Given the description of an element on the screen output the (x, y) to click on. 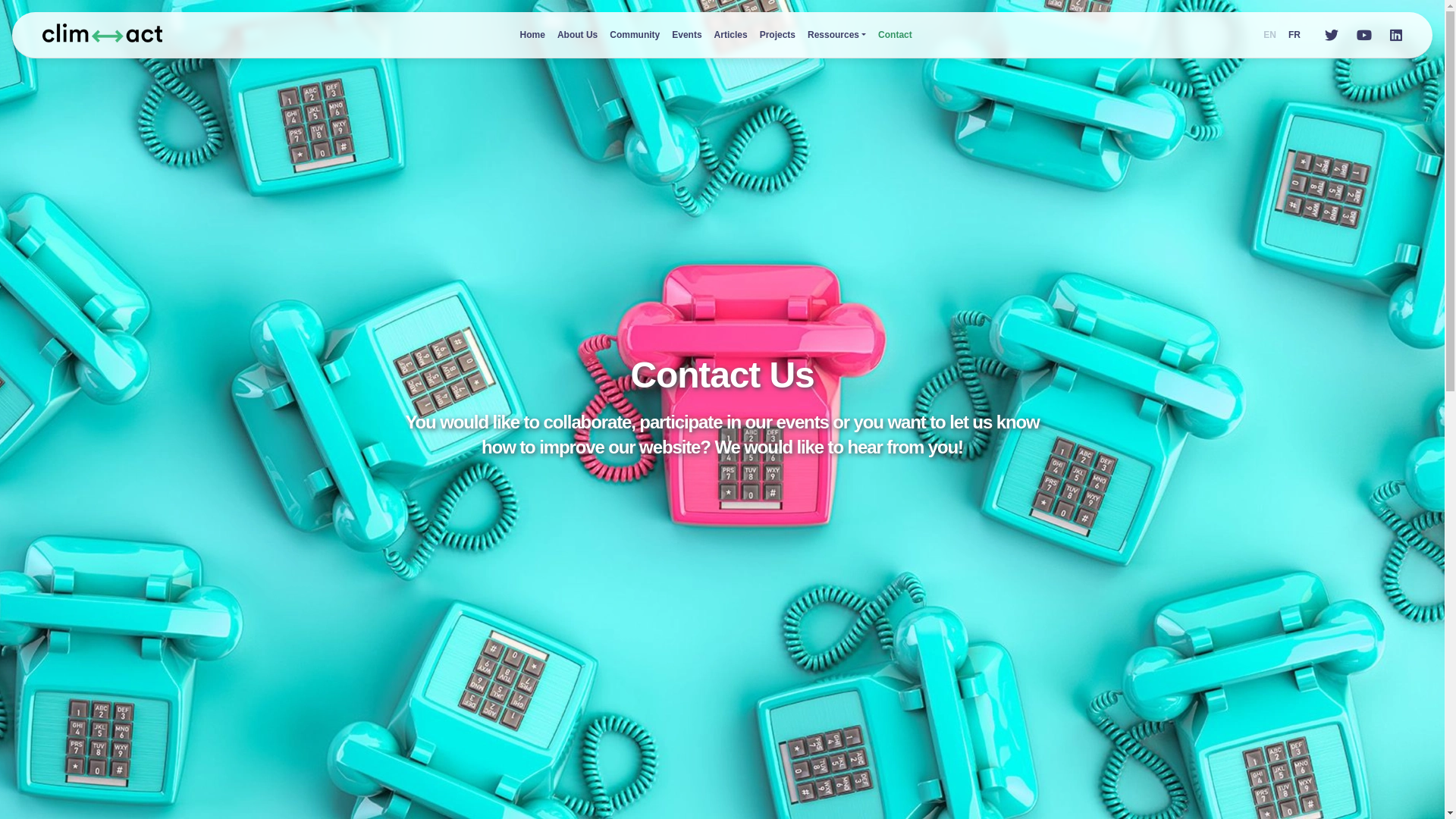
Articles Element type: text (730, 35)
Projects Element type: text (777, 35)
Home Element type: text (532, 35)
Community Element type: text (634, 35)
About Us Element type: text (577, 35)
Ressources Element type: text (836, 35)
FR Element type: text (1294, 35)
Contact Element type: text (895, 35)
Events Element type: text (686, 35)
EN Element type: text (1269, 35)
